Given the description of an element on the screen output the (x, y) to click on. 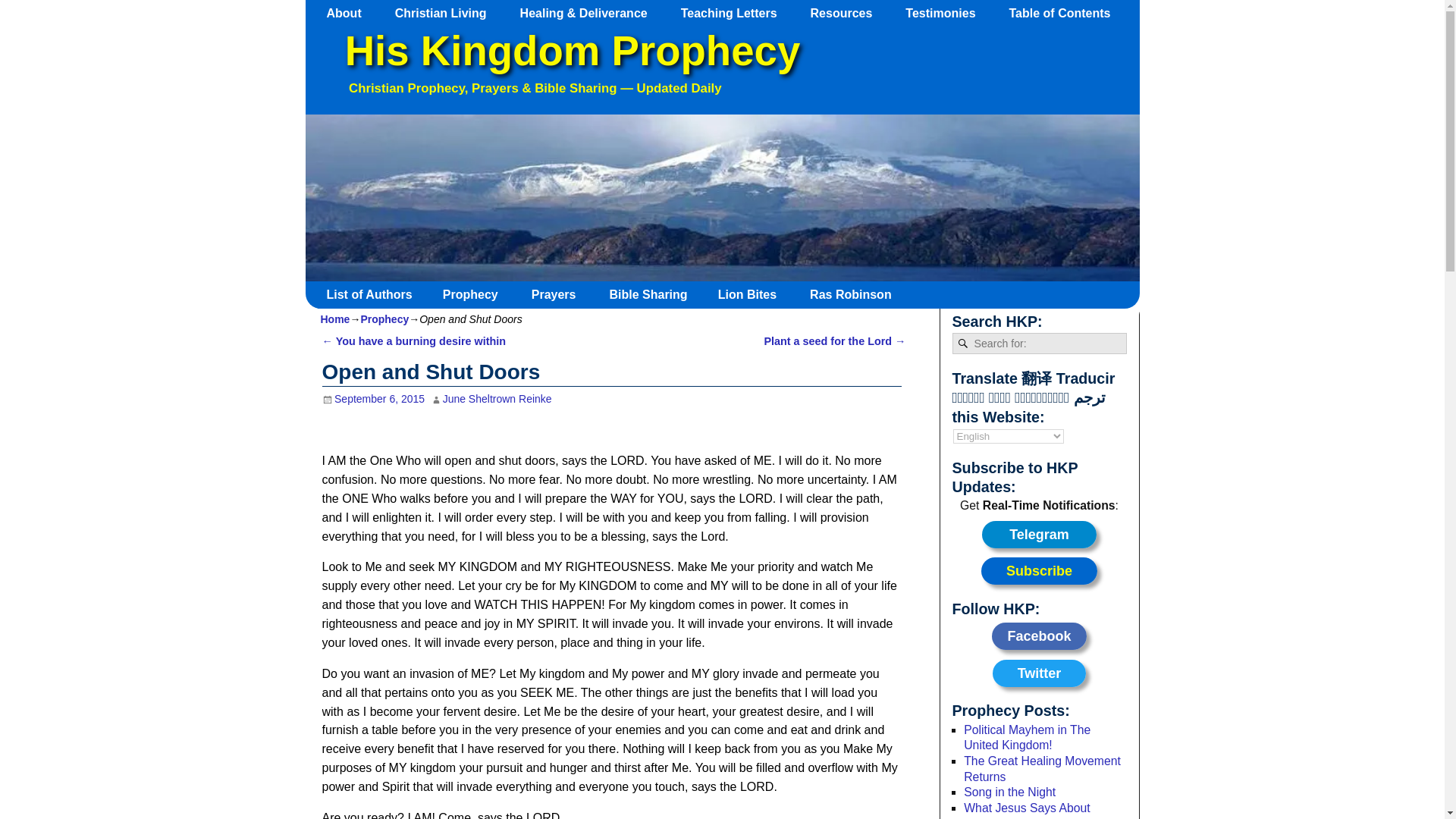
8:52 pm (373, 398)
Table of Contents (1066, 13)
Teaching Letters (736, 13)
Resources (849, 13)
Christian Living (448, 13)
View all posts by June Sheltrown Reinke (496, 398)
His Kingdom Prophecy (571, 50)
His Kingdom Prophecy (571, 50)
About (351, 13)
Testimonies (947, 13)
